Given the description of an element on the screen output the (x, y) to click on. 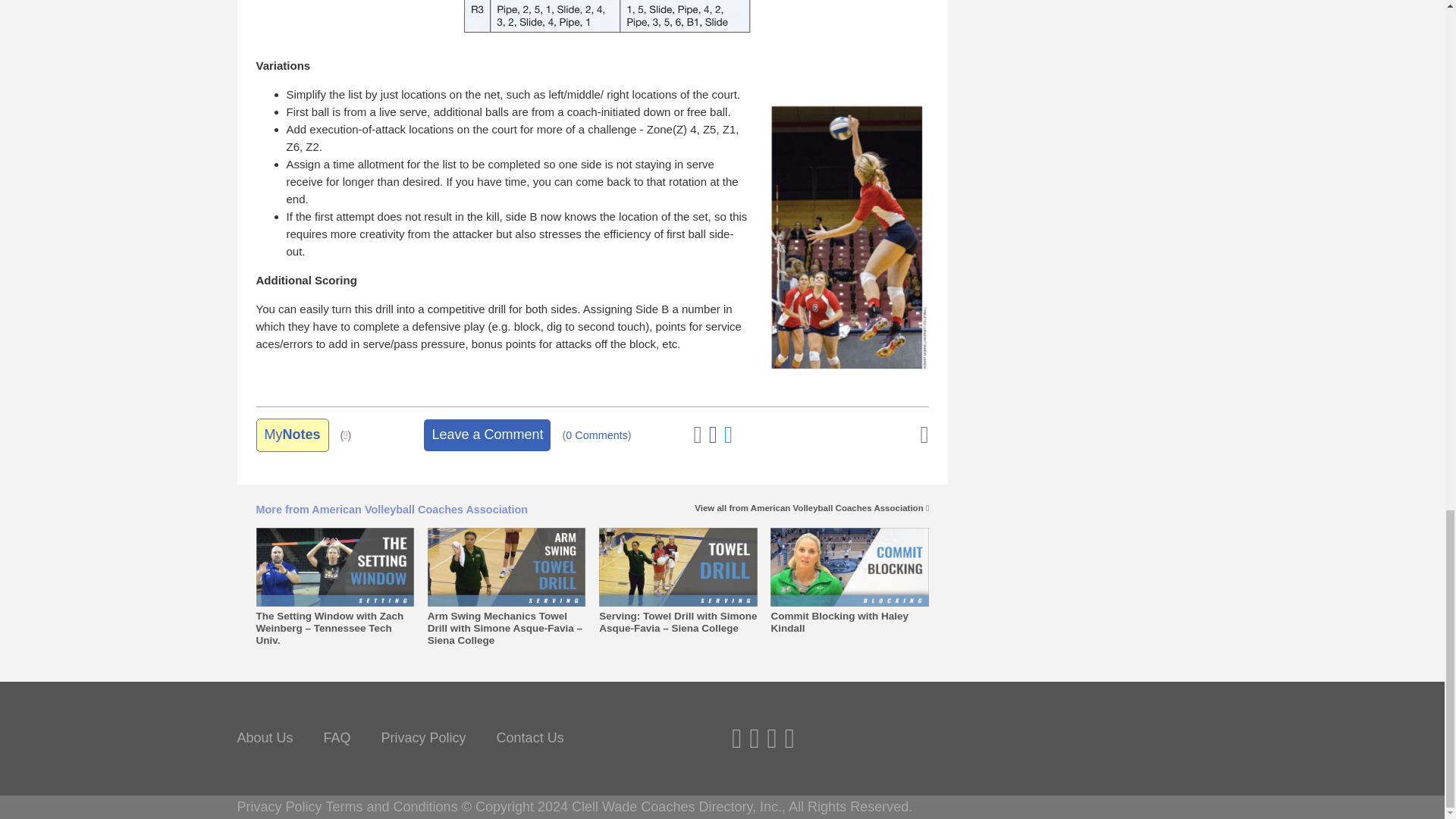
0 (596, 435)
MyNotes (292, 435)
Leave a Comment (486, 435)
MyNotes (292, 435)
Leave a Comment (486, 435)
0 Comments (596, 435)
